Given the description of an element on the screen output the (x, y) to click on. 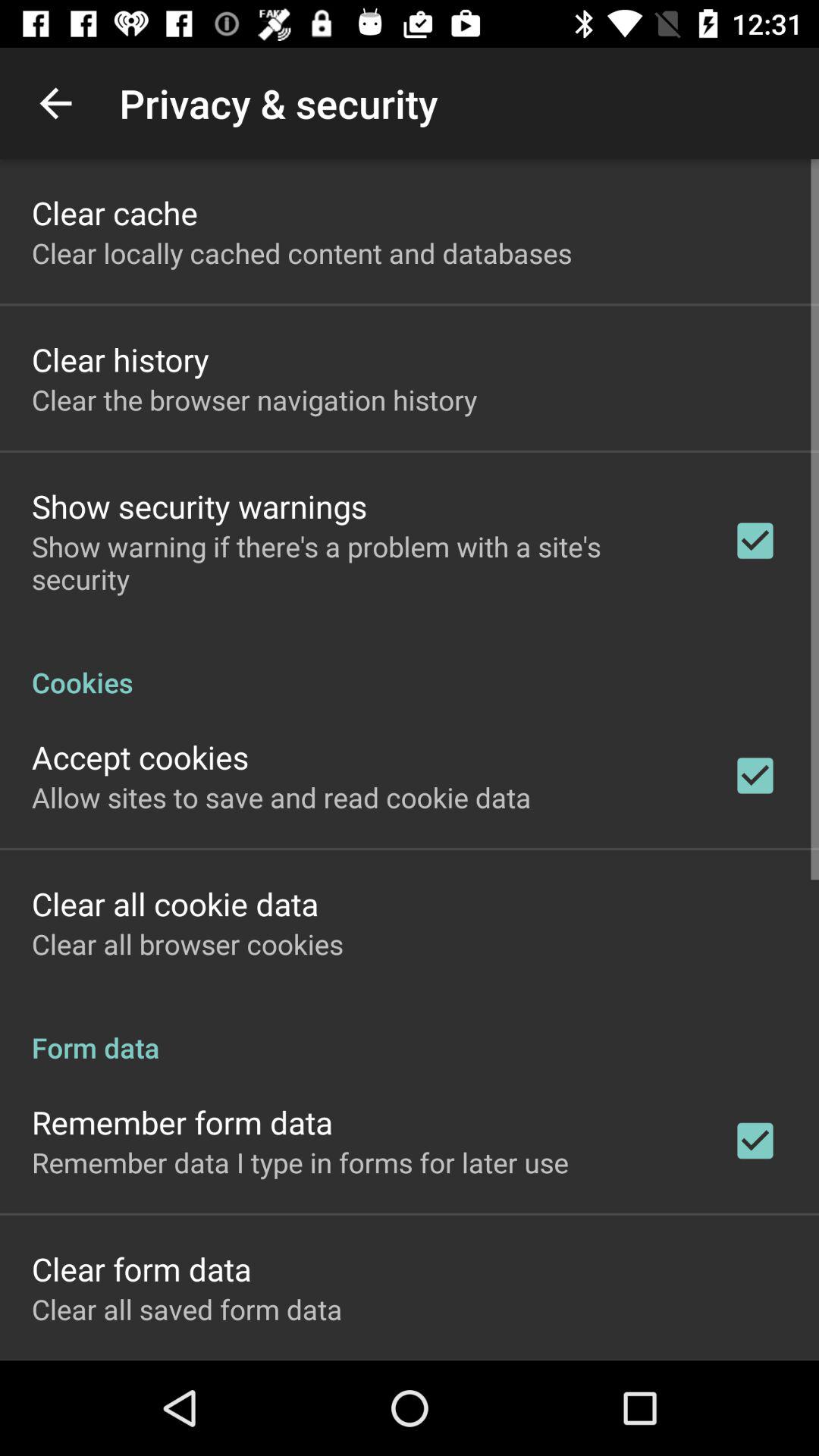
tap the item above the cookies (361, 562)
